Given the description of an element on the screen output the (x, y) to click on. 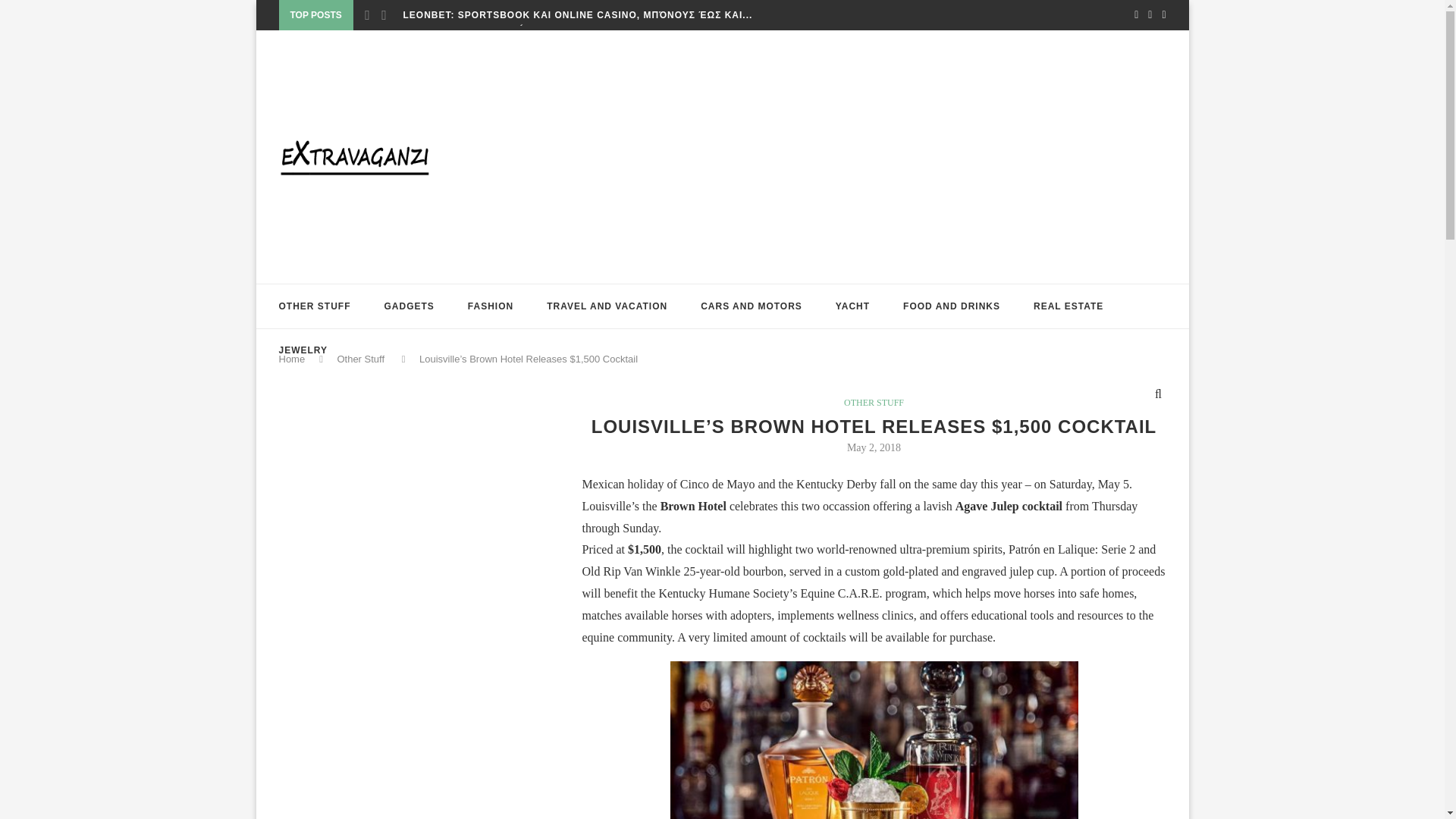
CARS AND MOTORS (751, 306)
REAL ESTATE (1068, 306)
FOOD AND DRINKS (951, 306)
Advertisement (392, 538)
TRAVEL AND VACATION (606, 306)
View all posts in Other Stuff (874, 402)
OTHER STUFF (314, 306)
GADGETS (408, 306)
FASHION (490, 306)
YACHT (852, 306)
